Given the description of an element on the screen output the (x, y) to click on. 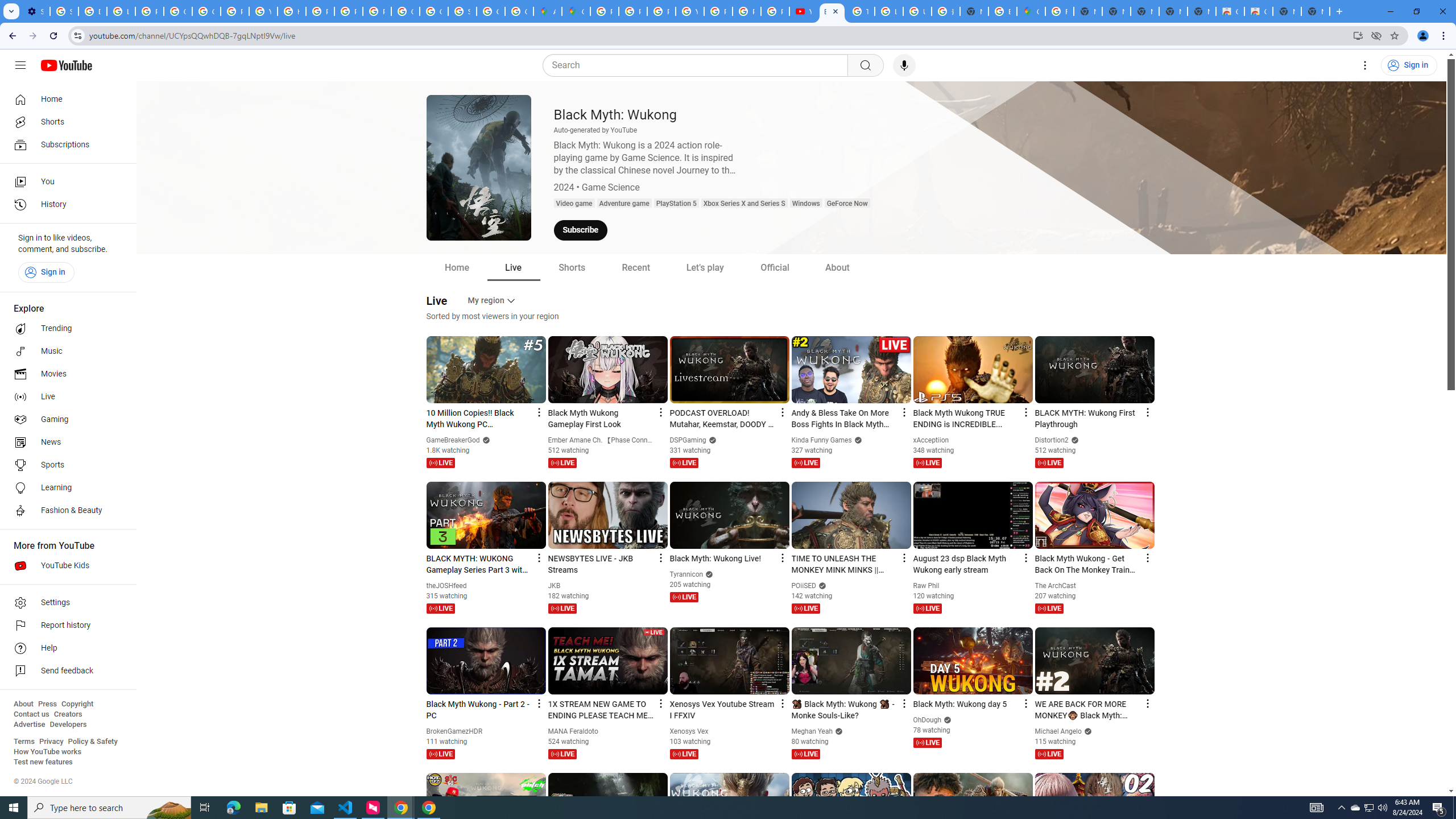
Music (64, 350)
Windows (805, 203)
YouTube (803, 11)
Sign in - Google Accounts (63, 11)
How YouTube works (47, 751)
Michael Angelo (1059, 731)
Search with your voice (903, 65)
The ArchCast (1055, 585)
About (23, 703)
